Given the description of an element on the screen output the (x, y) to click on. 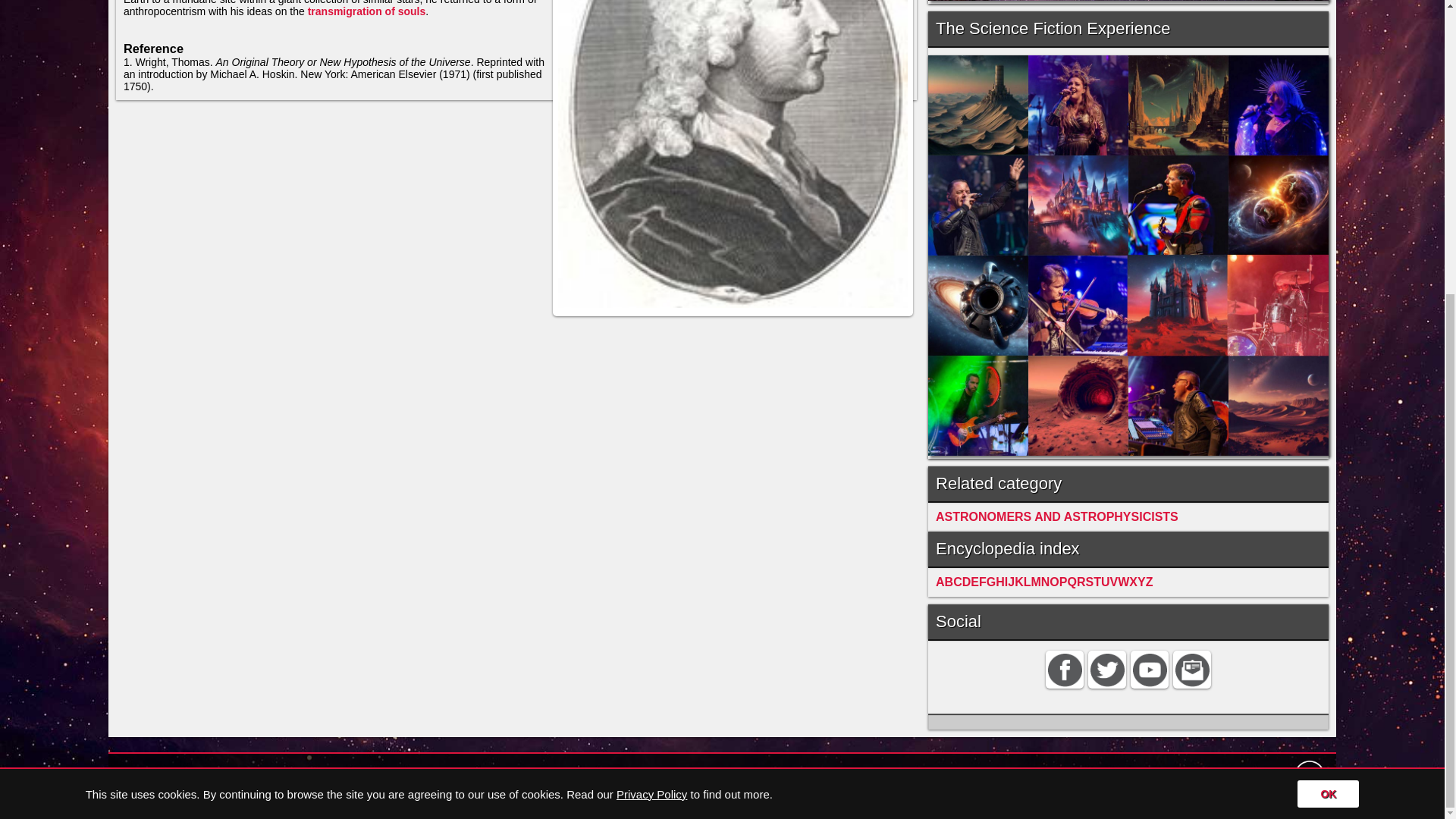
transmigration of souls (366, 10)
ASTRONOMERS AND ASTROPHYSICISTS (1056, 516)
